Given the description of an element on the screen output the (x, y) to click on. 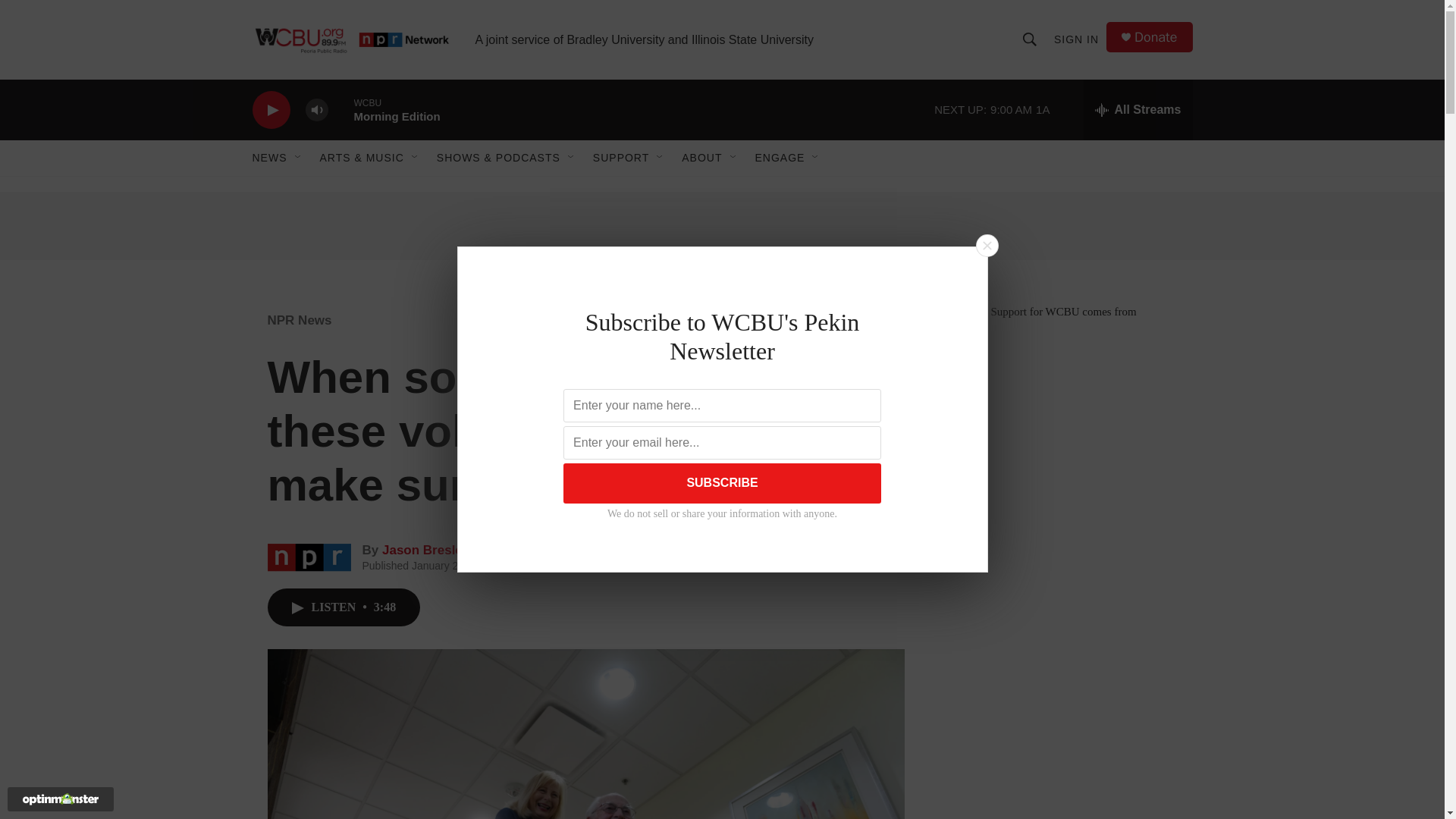
3rd party ad content (1062, 796)
3rd party ad content (1062, 647)
3rd party ad content (1062, 428)
Subscribe (721, 483)
3rd party ad content (721, 225)
Powered by OptinMonster (61, 799)
Close (986, 245)
